Given the description of an element on the screen output the (x, y) to click on. 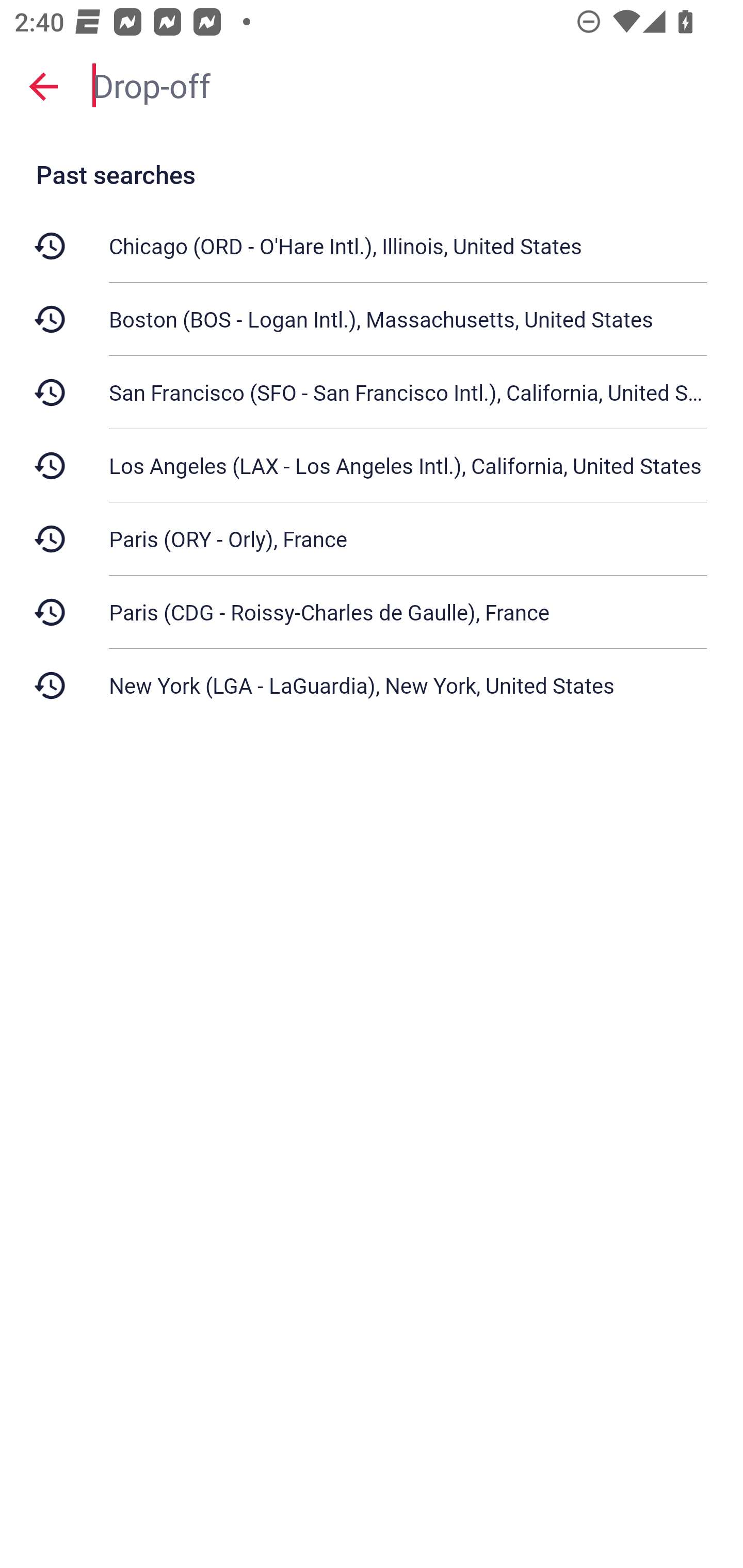
Drop-off,  (407, 85)
Close search screen (43, 86)
